Given the description of an element on the screen output the (x, y) to click on. 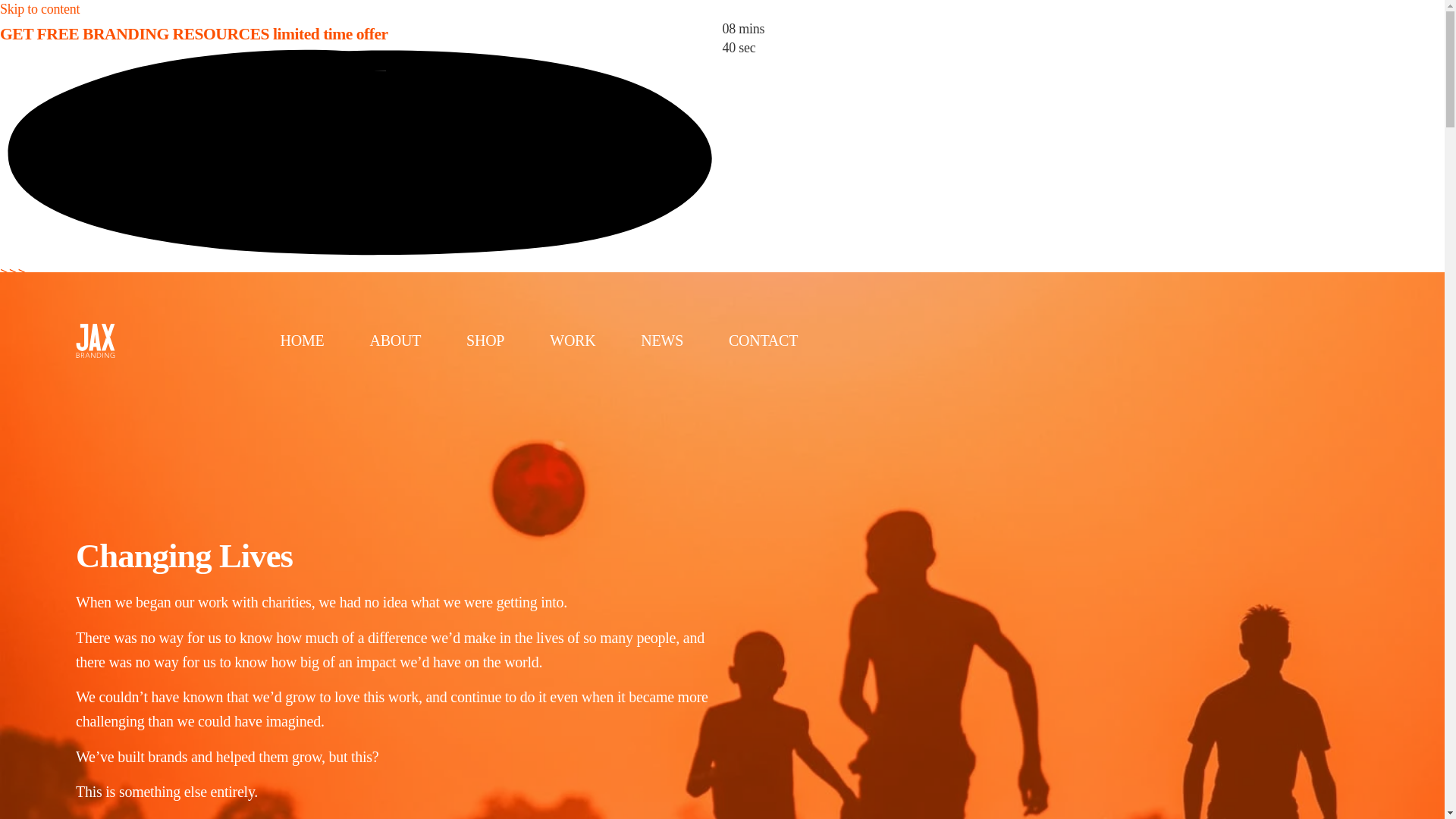
Skip to content (40, 8)
ABOUT (394, 340)
CONTACT (762, 340)
WORK (571, 340)
HOME (302, 340)
NEWS (661, 340)
SHOP (485, 340)
